Given the description of an element on the screen output the (x, y) to click on. 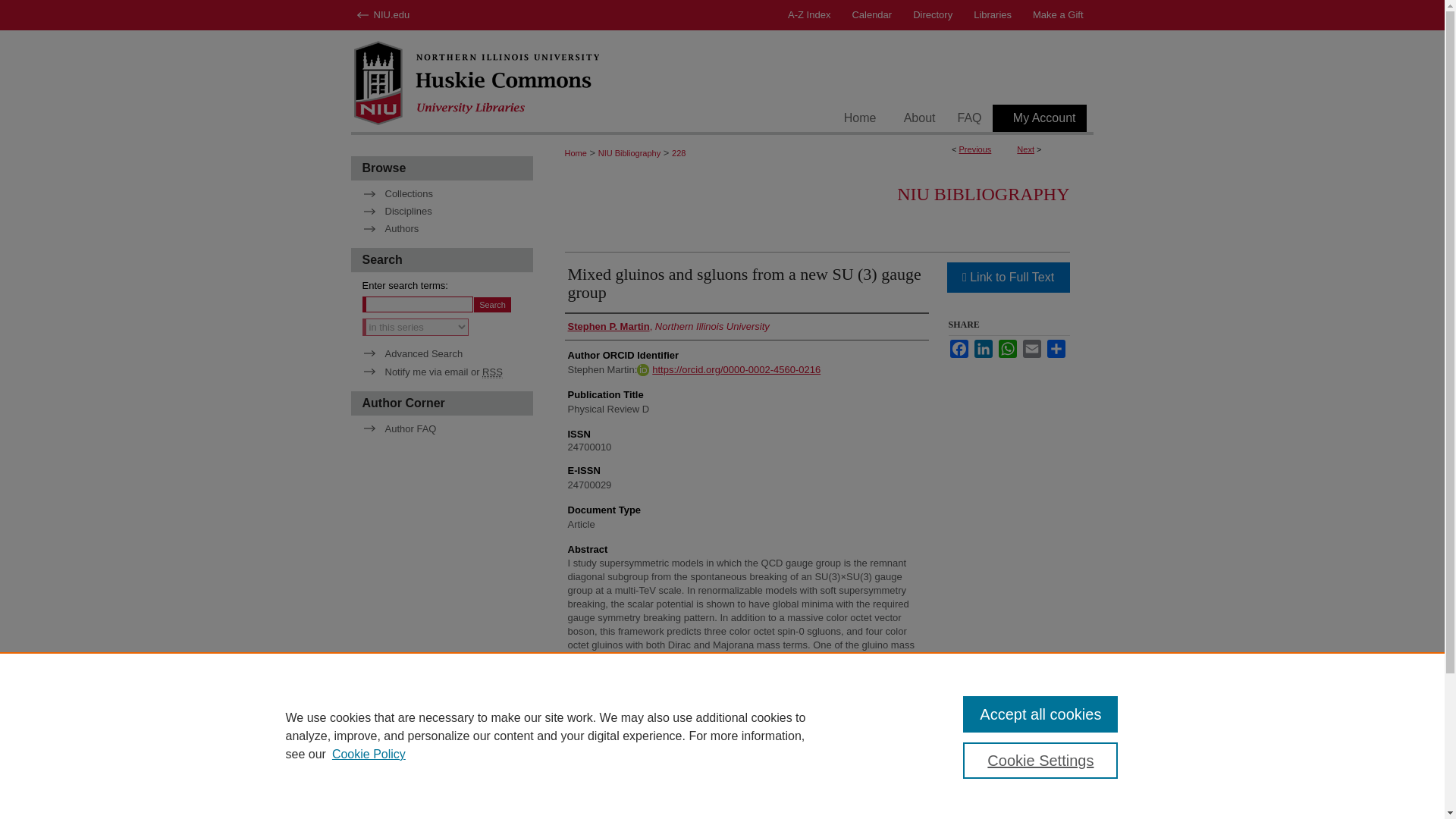
Home (859, 117)
Notify me via email or RSS (447, 371)
Calendar (871, 15)
Share (1055, 348)
NIU BIBLIOGRAPHY (982, 193)
228 (678, 153)
Libraries (992, 15)
WhatsApp (1006, 348)
NIU Bibliography (629, 153)
Directory (932, 15)
Home (575, 153)
Advanced Search (412, 352)
Calendar (871, 15)
FAQ (968, 117)
Collections (447, 193)
